Given the description of an element on the screen output the (x, y) to click on. 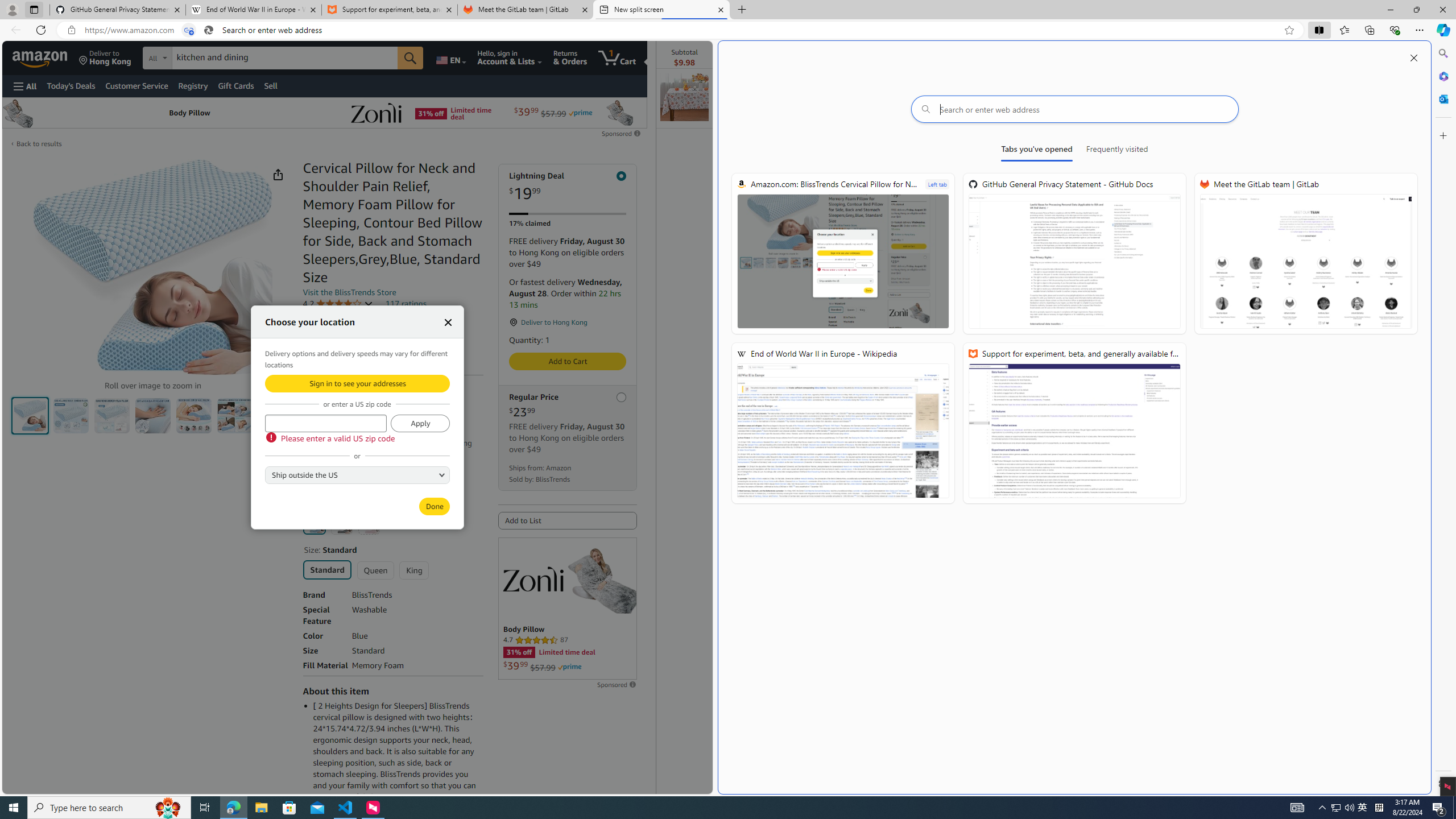
Frequently visited (1117, 151)
Search Amazon (284, 57)
New split screen (660, 9)
Hello, sign in Account & Lists (509, 57)
Returns & Orders (570, 57)
Sustainability features (308, 350)
Registry (192, 85)
Prime (569, 666)
Share (277, 174)
